Given the description of an element on the screen output the (x, y) to click on. 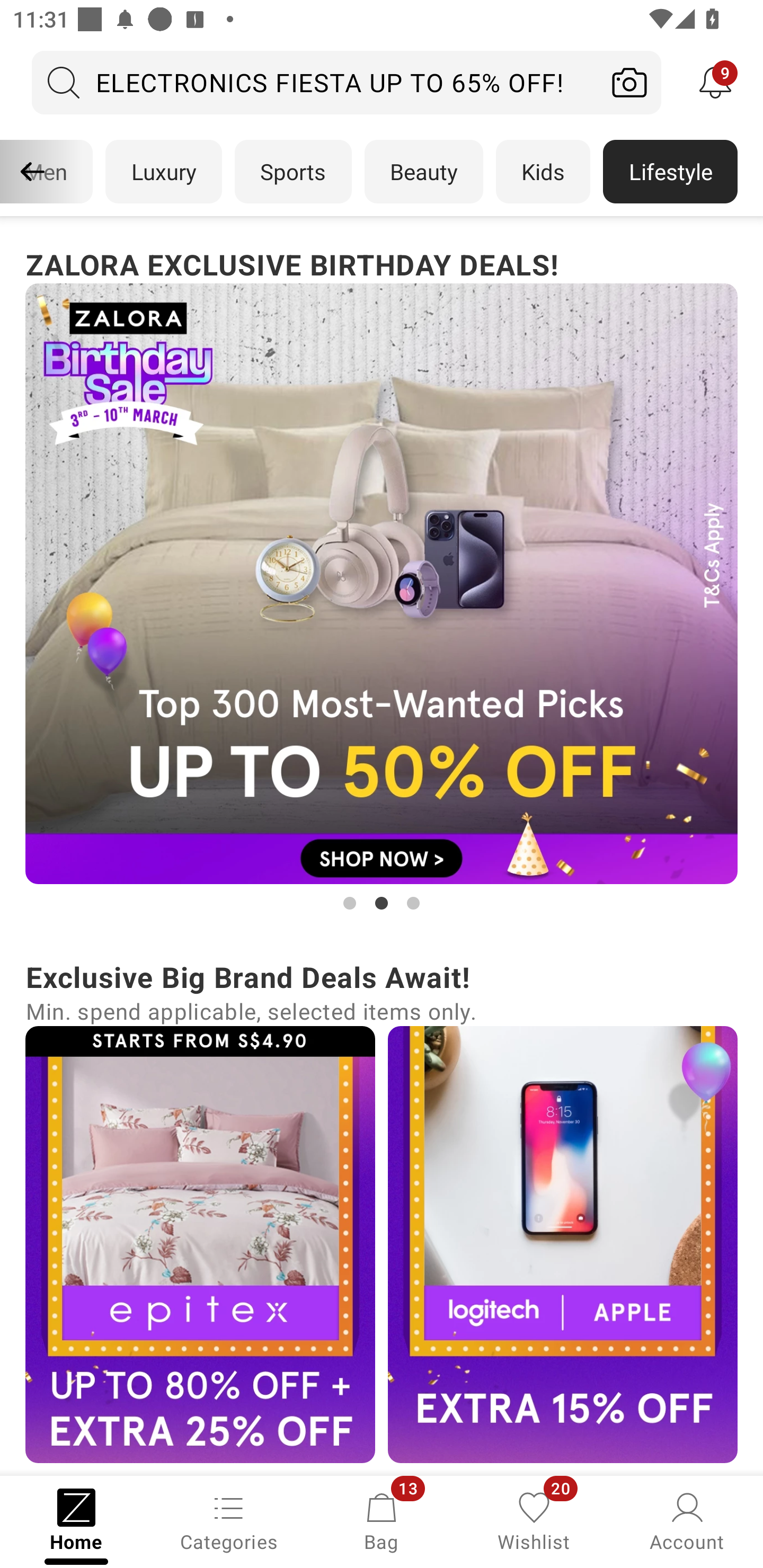
ELECTRONICS FIESTA UP TO 65% OFF! (314, 82)
Luxury (163, 171)
Sports (293, 171)
Beauty (423, 171)
Kids (542, 171)
Lifestyle (669, 171)
ZALORA EXCLUSIVE BIRTHDAY DEALS! Campaign banner (381, 578)
Campaign banner (381, 583)
Campaign banner (200, 1243)
Campaign banner (562, 1243)
Categories (228, 1519)
Bag, 13 new notifications Bag (381, 1519)
Wishlist, 20 new notifications Wishlist (533, 1519)
Account (686, 1519)
